Given the description of an element on the screen output the (x, y) to click on. 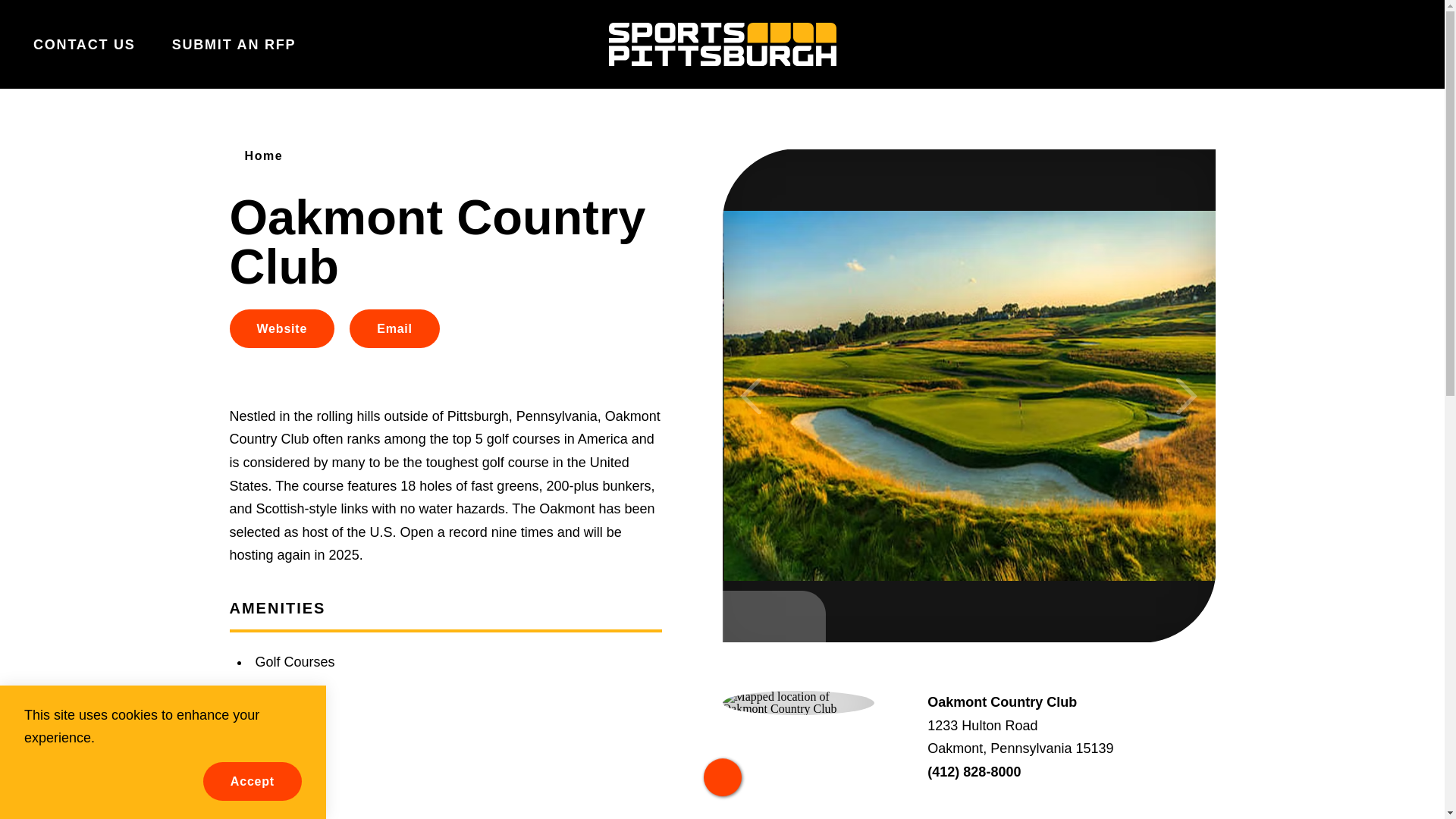
Skip to content (17, 15)
Home (258, 155)
Website (281, 328)
Email (394, 328)
AMENITIES (276, 607)
CONTACT US (84, 43)
Accept (252, 781)
SUBMIT AN RFP (234, 43)
